Given the description of an element on the screen output the (x, y) to click on. 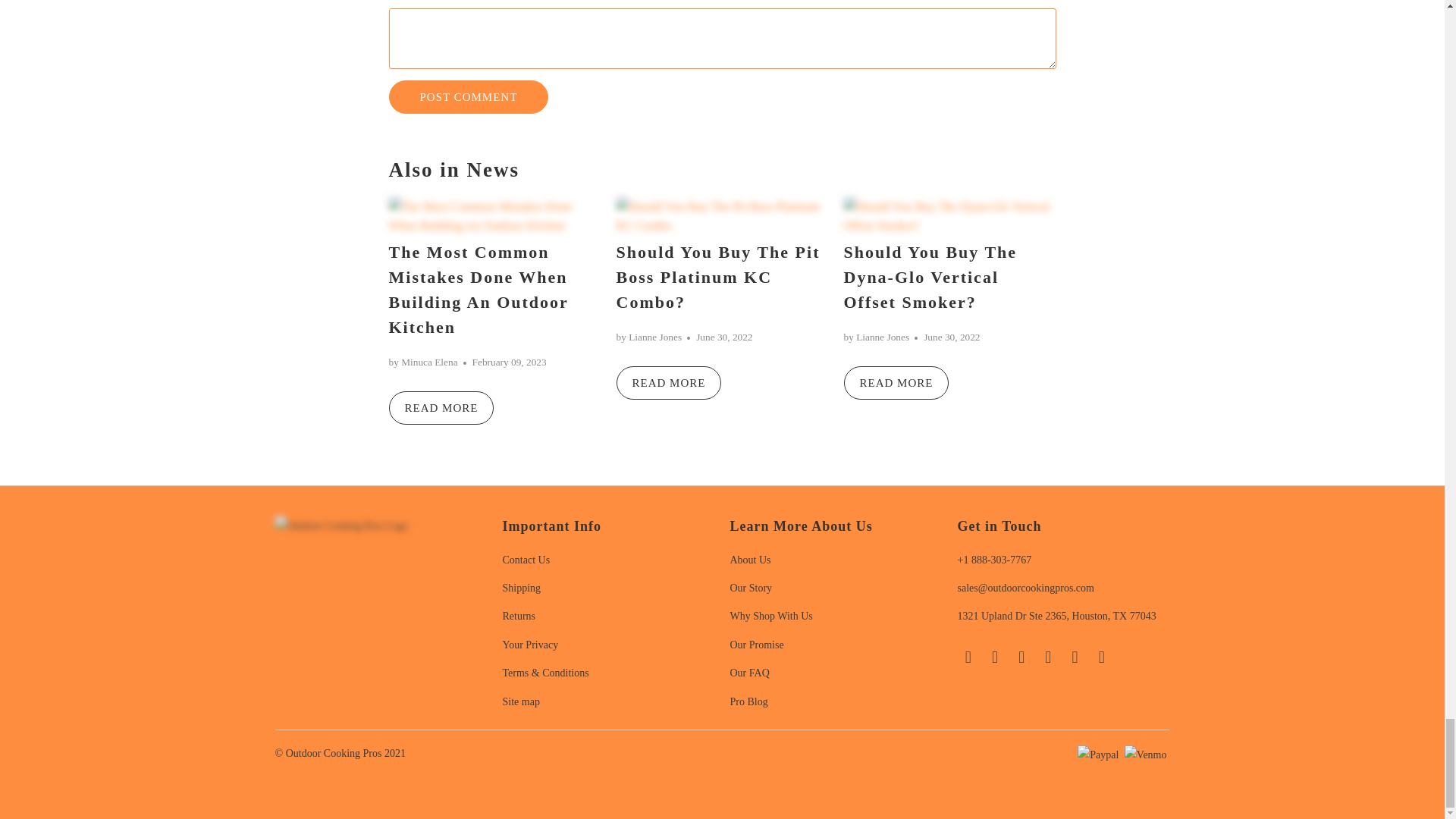
Post comment (468, 96)
